Given the description of an element on the screen output the (x, y) to click on. 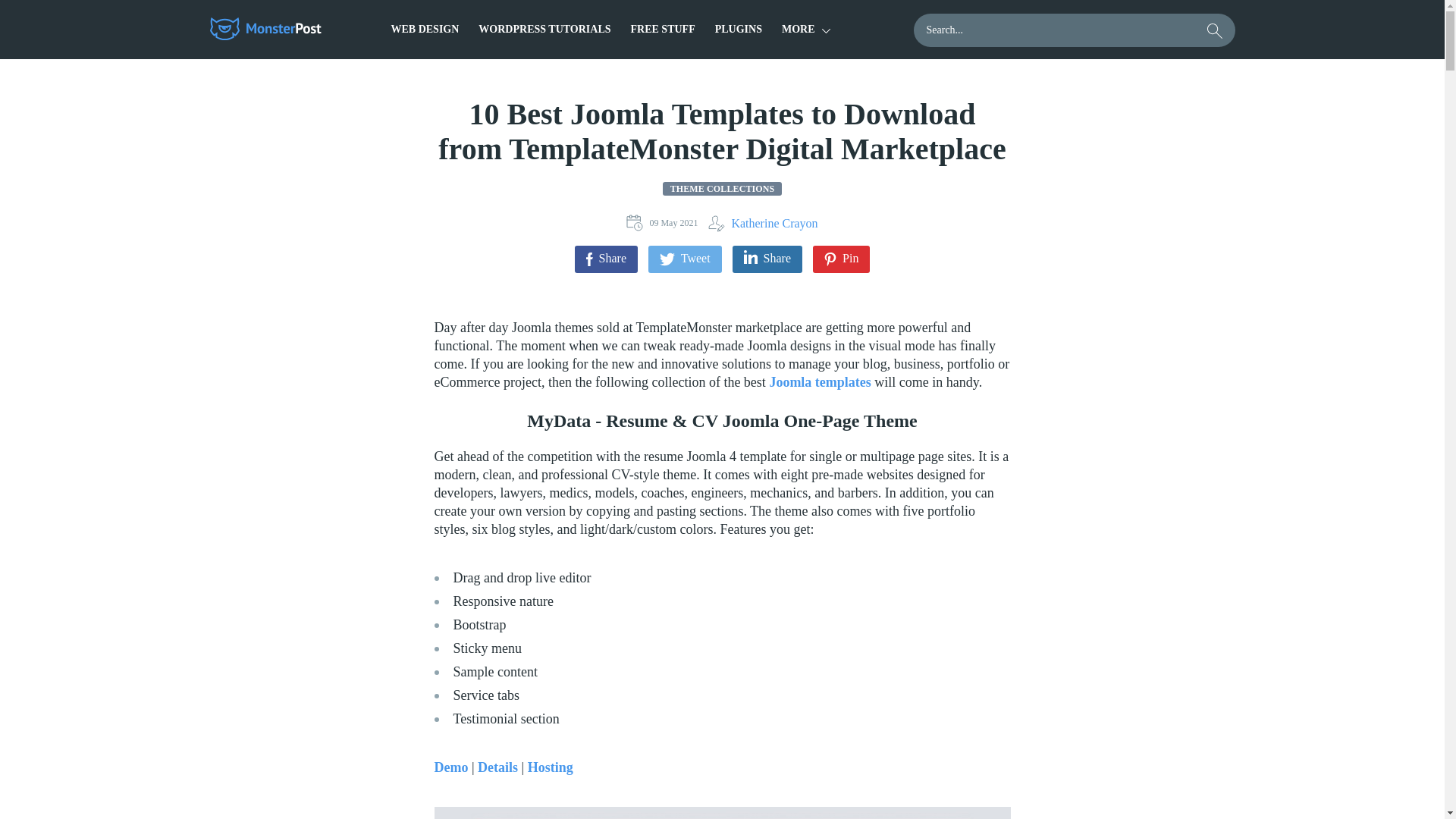
Details (497, 767)
Pin (840, 258)
WORDPRESS TUTORIALS (544, 29)
WEB DESIGN (425, 29)
Share (767, 258)
THEME COLLECTIONS (722, 188)
PLUGINS (737, 29)
Katherine Crayon (761, 223)
Share (606, 258)
Tweet (684, 258)
FREE STUFF (662, 29)
Joomla templates (819, 381)
Demo (450, 767)
Hosting (550, 767)
